Given the description of an element on the screen output the (x, y) to click on. 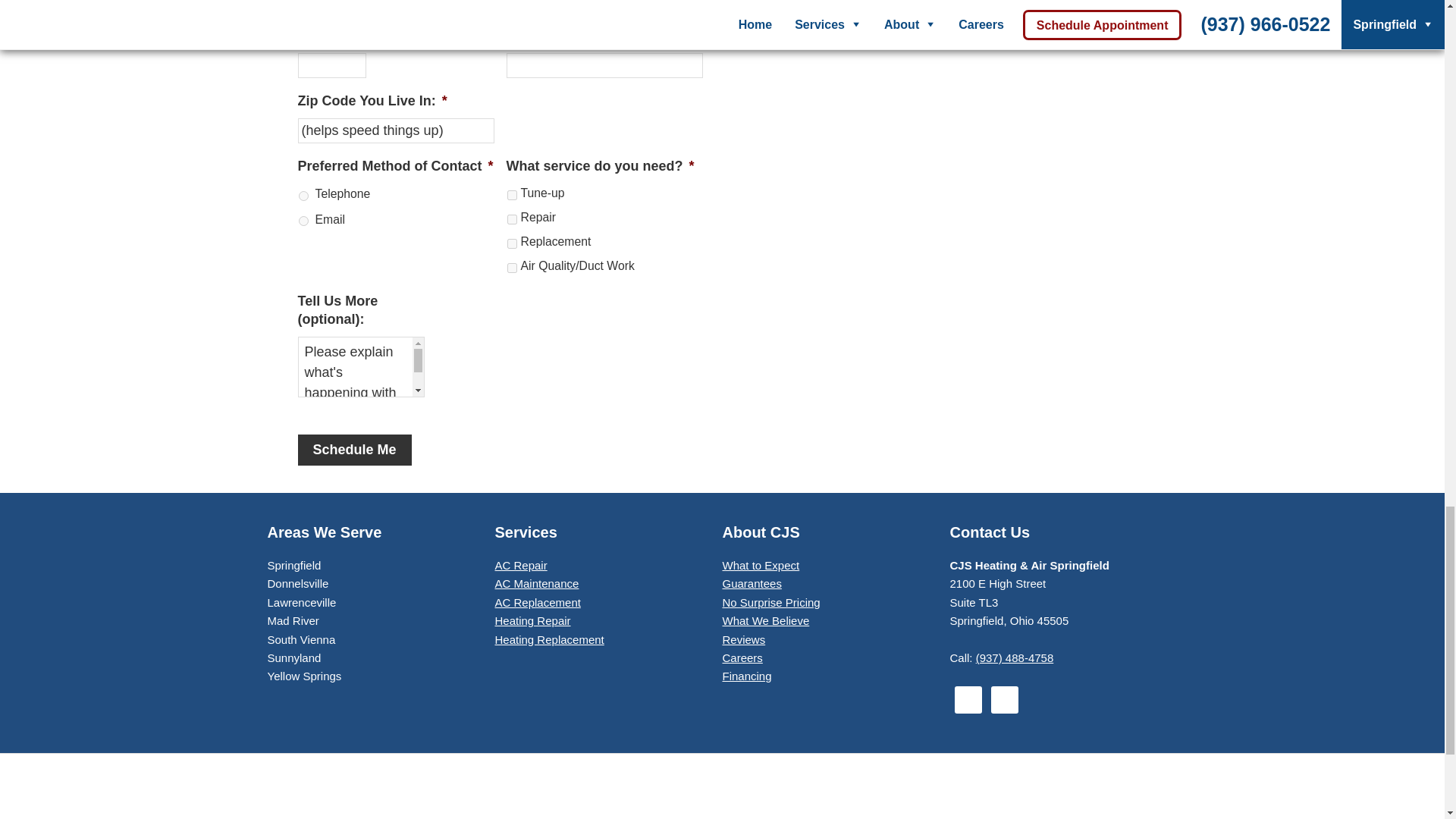
Email (303, 221)
Telephone (303, 195)
Schedule Me (353, 450)
Repair (511, 219)
Replacement (511, 243)
Tune-up (511, 194)
